Given the description of an element on the screen output the (x, y) to click on. 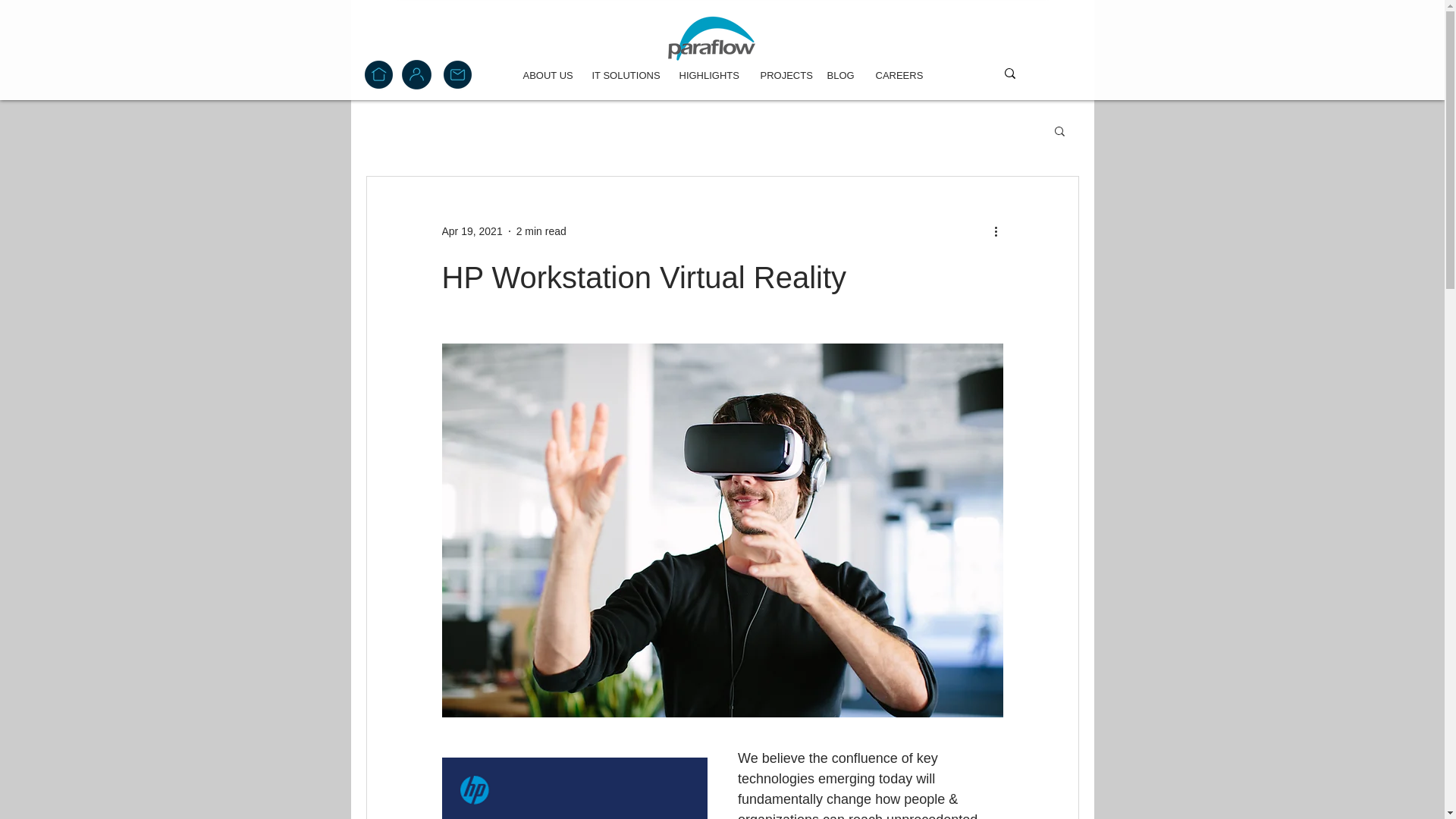
IT SOLUTIONS (624, 75)
ABOUT US (545, 75)
PROJECTS (782, 75)
2 min read (541, 230)
Home (377, 74)
CAREERS (895, 75)
HIGHLIGHTS (707, 75)
BLOG (839, 75)
Contacts (456, 74)
Apr 19, 2021 (471, 230)
Service Desk (415, 74)
